Given the description of an element on the screen output the (x, y) to click on. 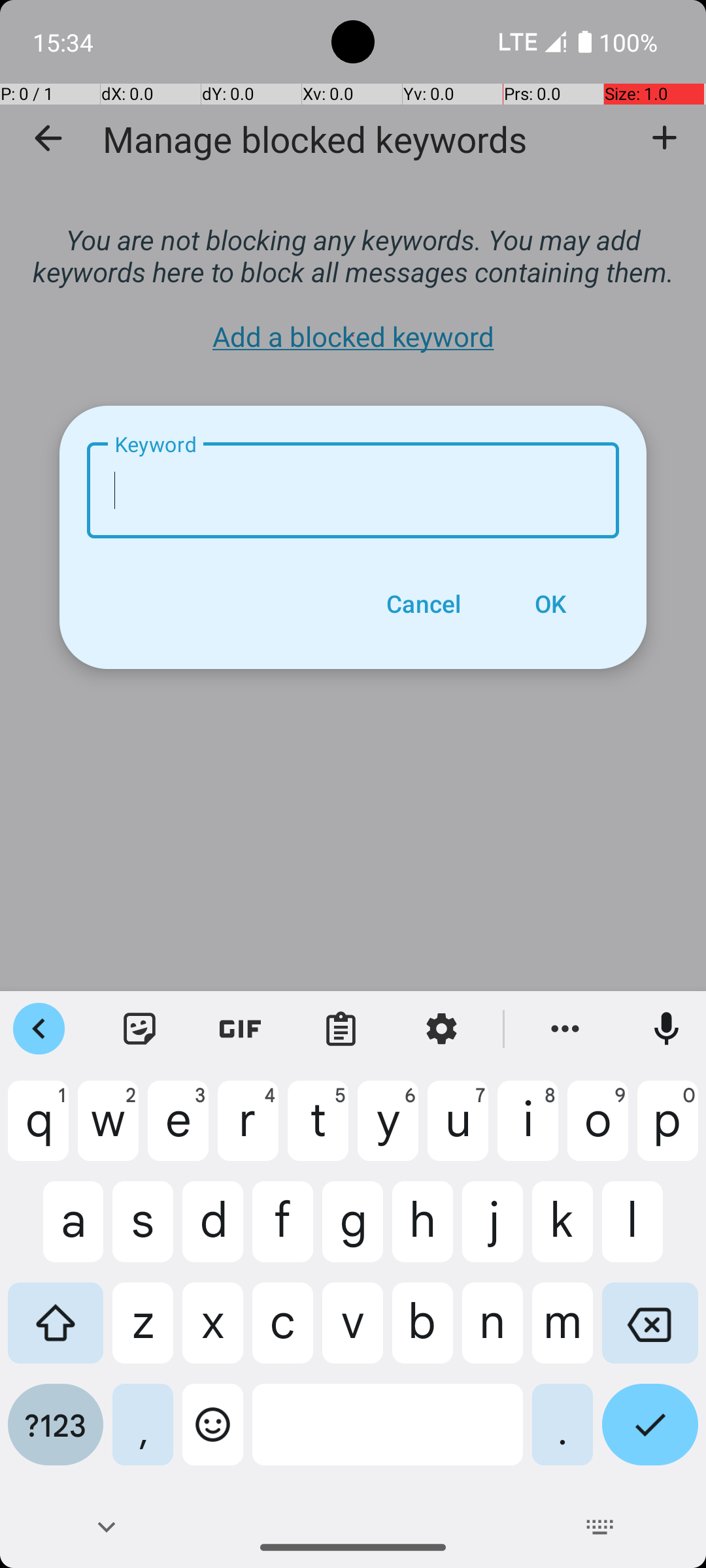
Keyword Element type: android.widget.EditText (352, 490)
